Given the description of an element on the screen output the (x, y) to click on. 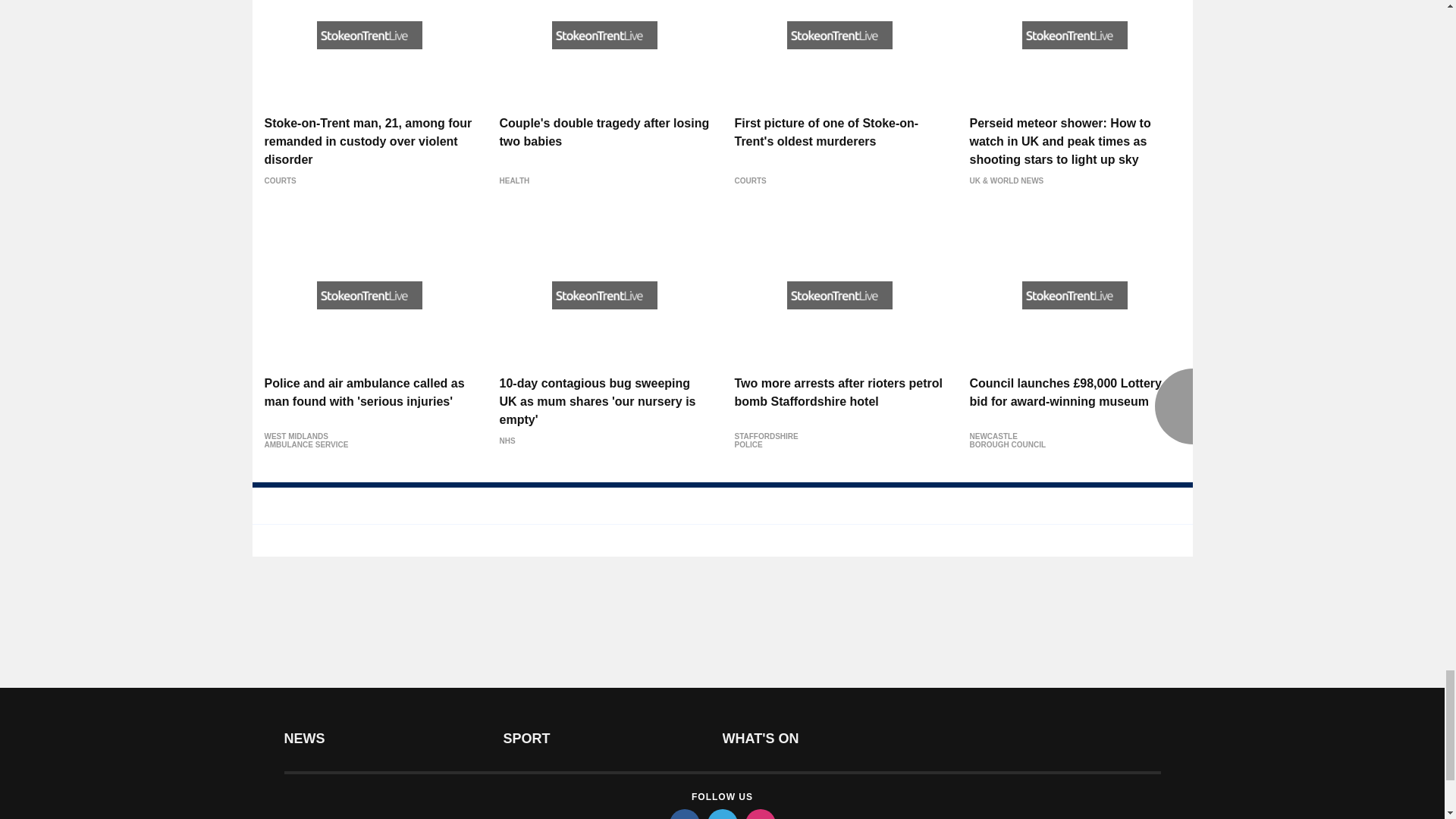
twitter (721, 814)
instagram (759, 814)
facebook (683, 814)
